Given the description of an element on the screen output the (x, y) to click on. 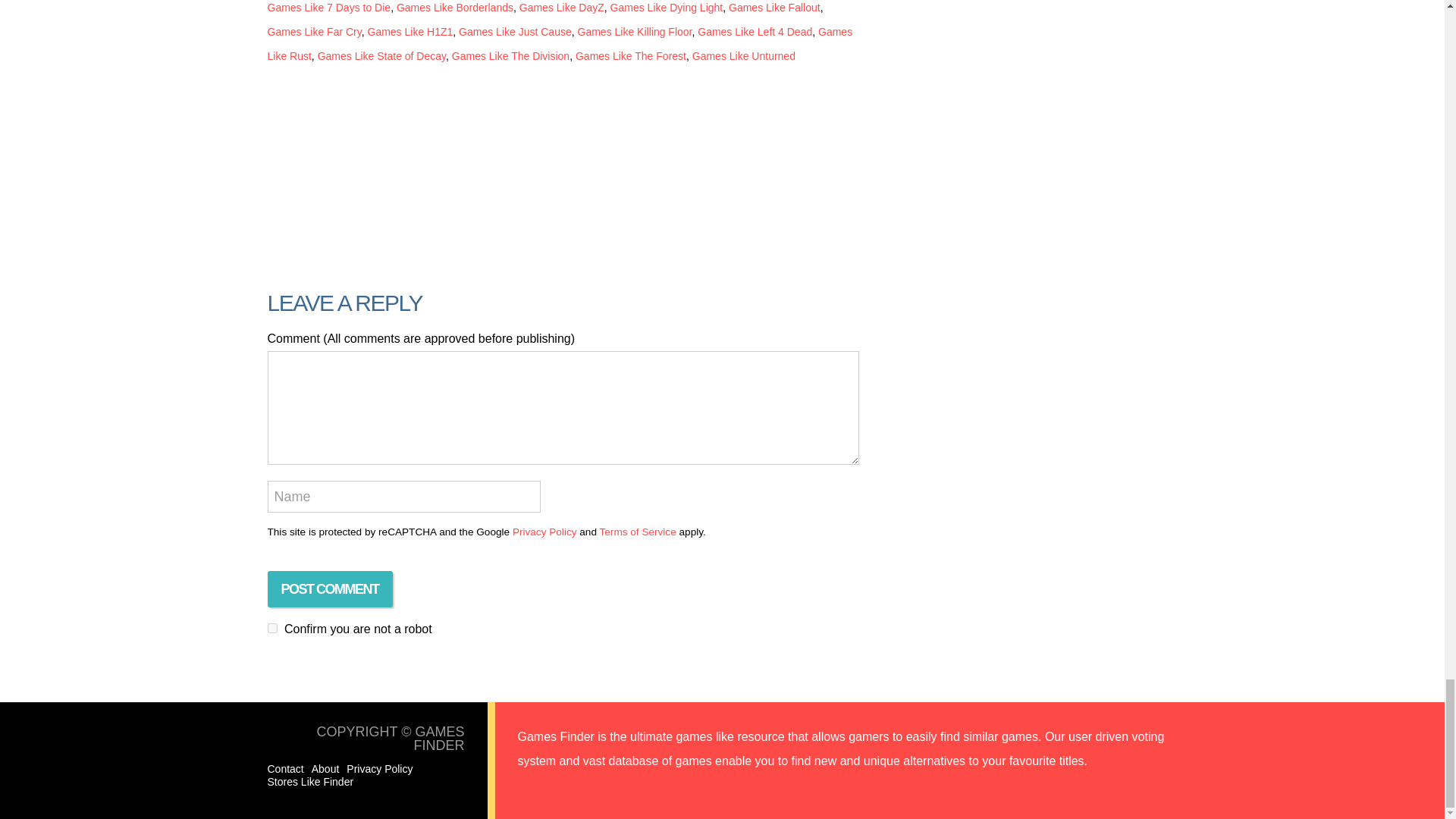
Games Like The Forest (630, 55)
Games Like DayZ (561, 7)
Terms of Service (636, 531)
Games Like The Division (510, 55)
Games Like Just Cause (515, 31)
Privacy Policy (379, 768)
Games Like Rust (558, 43)
Games Like Far Cry (313, 31)
on (271, 628)
Games Like Borderlands (454, 7)
Games Like Fallout (775, 7)
Games Like State of Decay (381, 55)
Games Like Unturned (743, 55)
Contact (284, 768)
Games Like Left 4 Dead (754, 31)
